Given the description of an element on the screen output the (x, y) to click on. 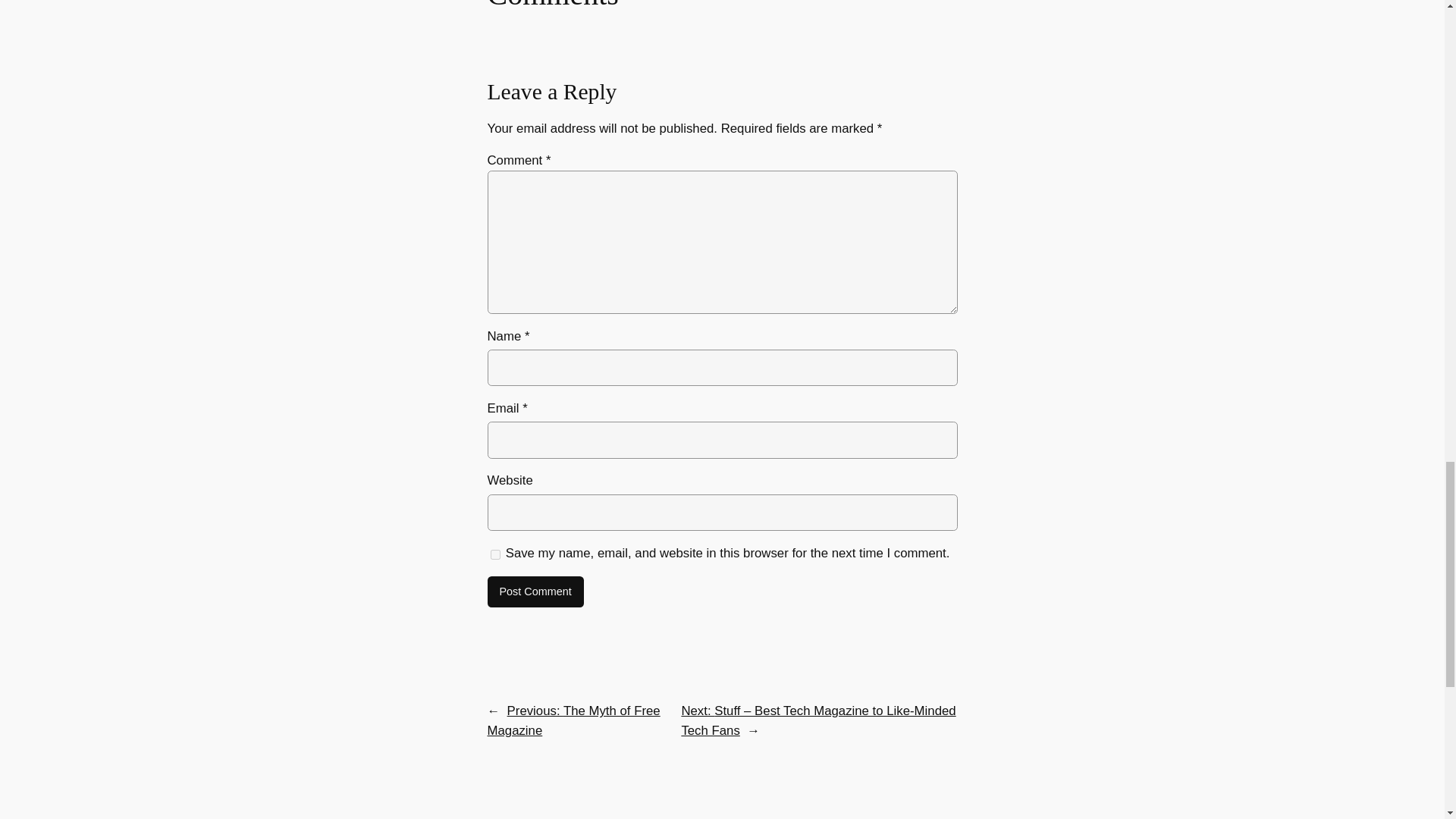
Post Comment (534, 592)
Post Comment (534, 592)
Previous: The Myth of Free Magazine (572, 720)
